Given the description of an element on the screen output the (x, y) to click on. 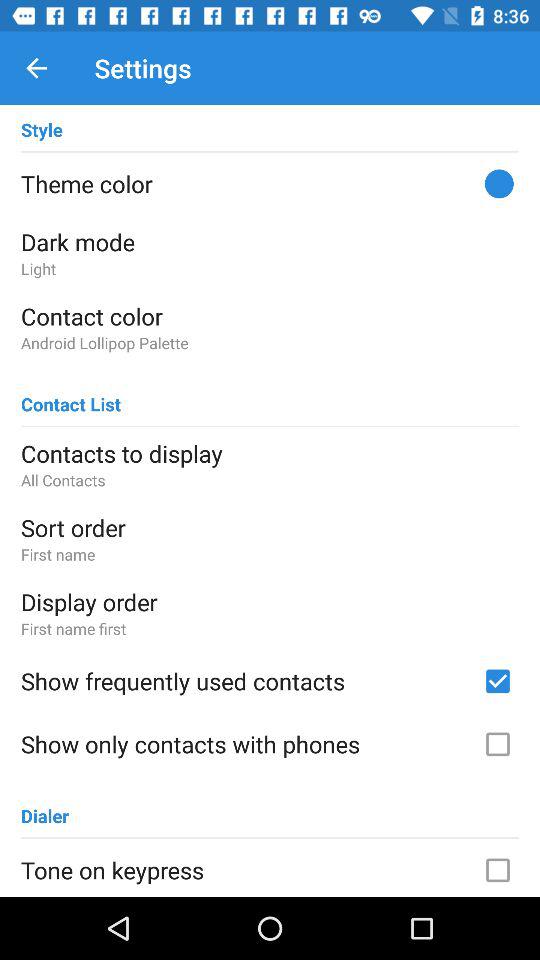
select icon above tone on keypress icon (45, 806)
